Given the description of an element on the screen output the (x, y) to click on. 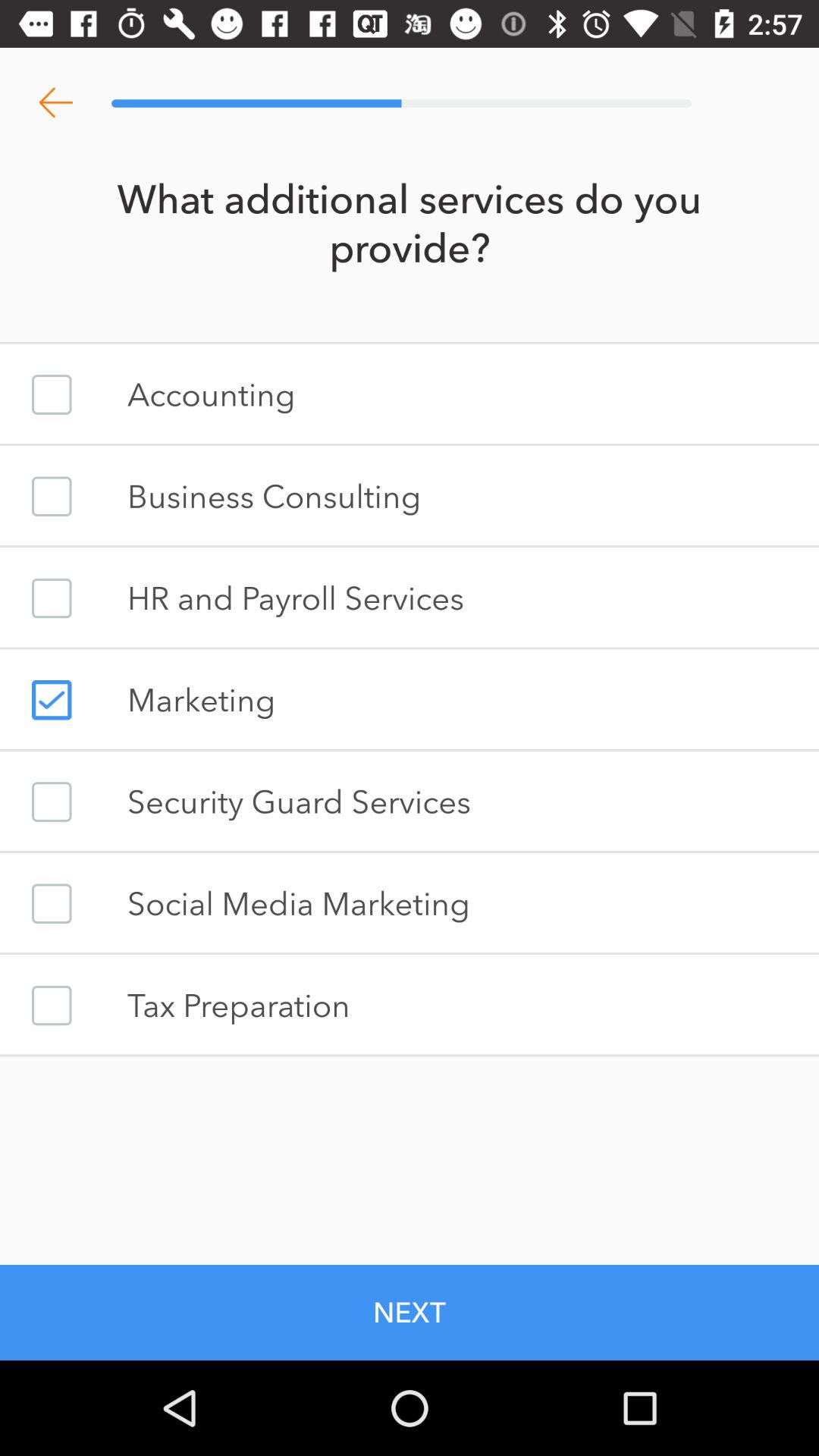
market on social media (51, 903)
